Given the description of an element on the screen output the (x, y) to click on. 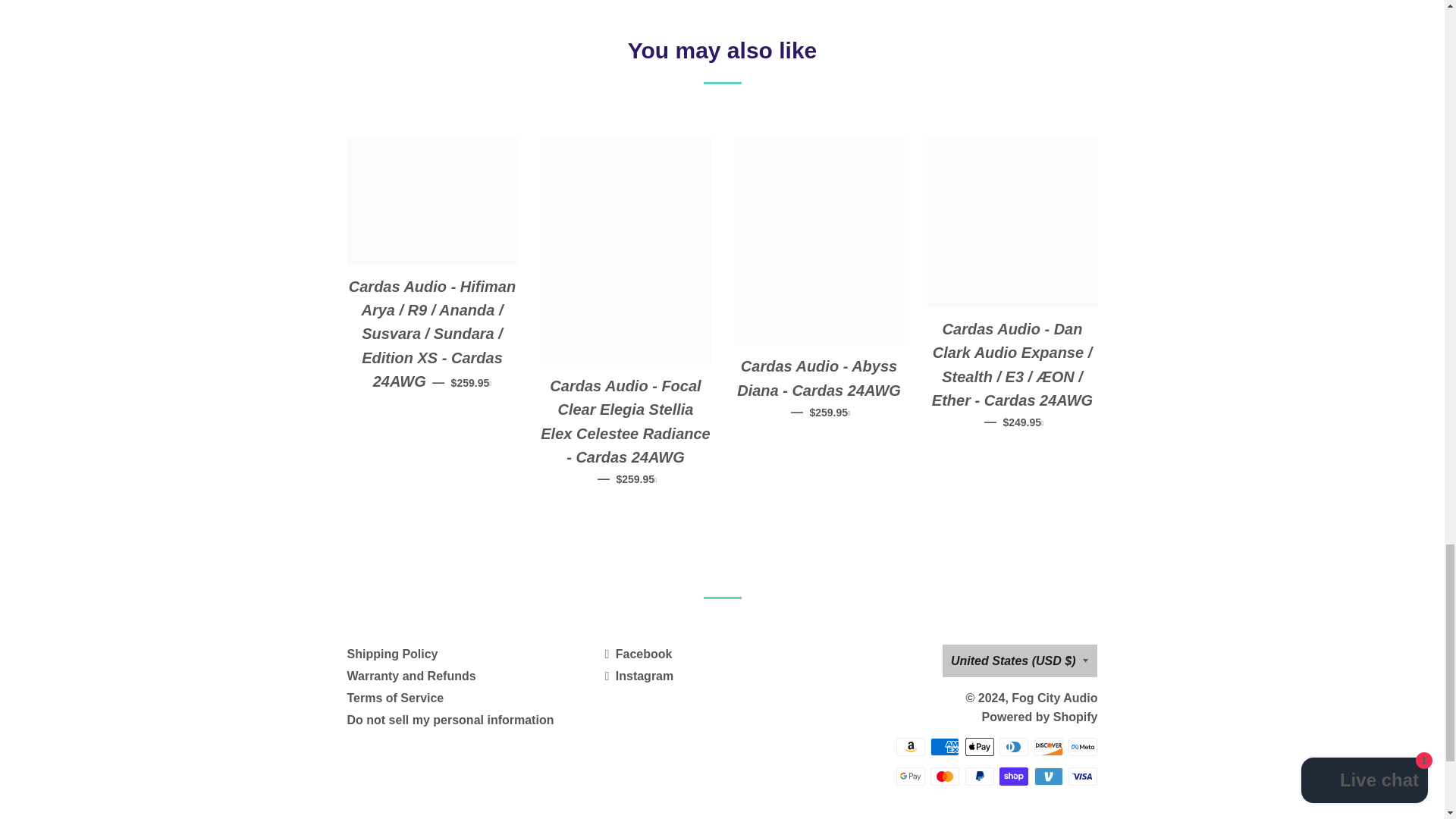
Apple Pay (979, 746)
Shop Pay (1012, 776)
PayPal (979, 776)
Fog City Audio on Facebook (637, 653)
Visa (1082, 776)
Amazon (910, 746)
Mastercard (944, 776)
Discover (1047, 746)
Diners Club (1012, 746)
Fog City Audio on Instagram (638, 675)
Venmo (1047, 776)
Google Pay (910, 776)
Meta Pay (1082, 746)
American Express (944, 746)
